Given the description of an element on the screen output the (x, y) to click on. 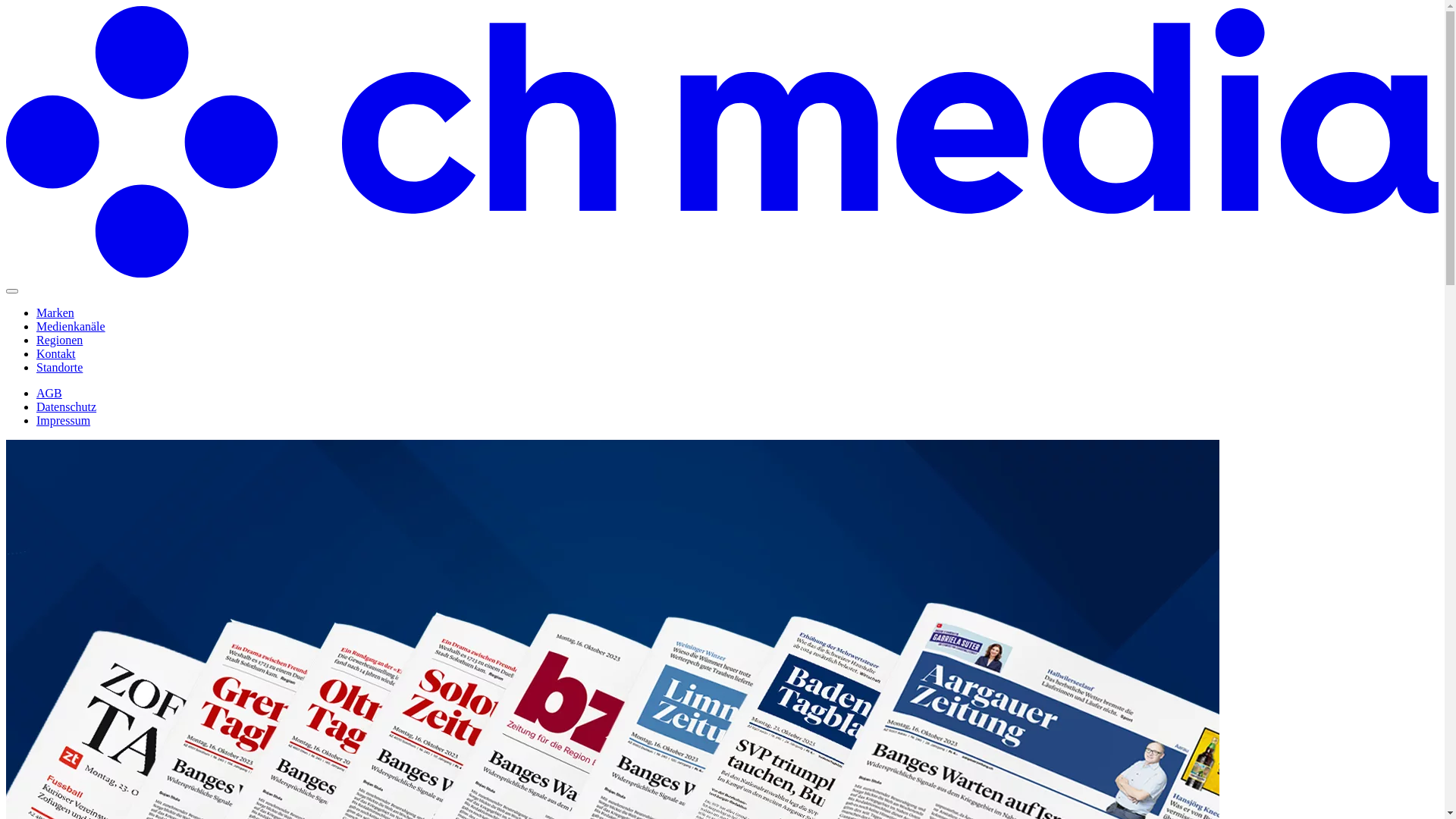
AGB Element type: text (49, 392)
Datenschutz Element type: text (66, 406)
Standorte Element type: text (59, 366)
Kontakt Element type: text (55, 353)
Impressum Element type: text (63, 420)
Regionen Element type: text (59, 339)
Marken Element type: text (55, 312)
CH Media Element type: text (722, 272)
